Given the description of an element on the screen output the (x, y) to click on. 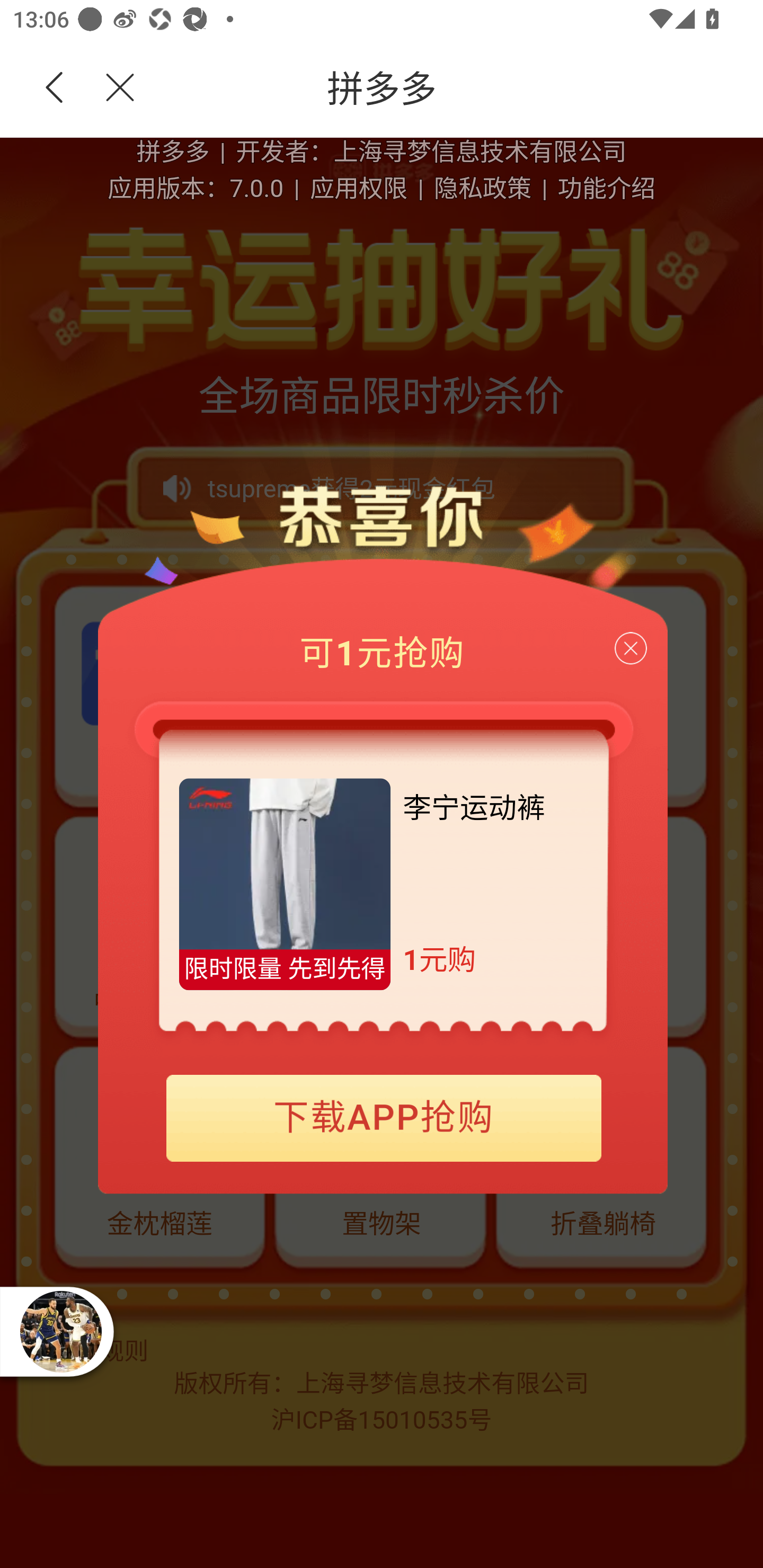
 (109, 87)
拼多多 (451, 87)
 返回 (54, 87)
播放器 (60, 1331)
